Given the description of an element on the screen output the (x, y) to click on. 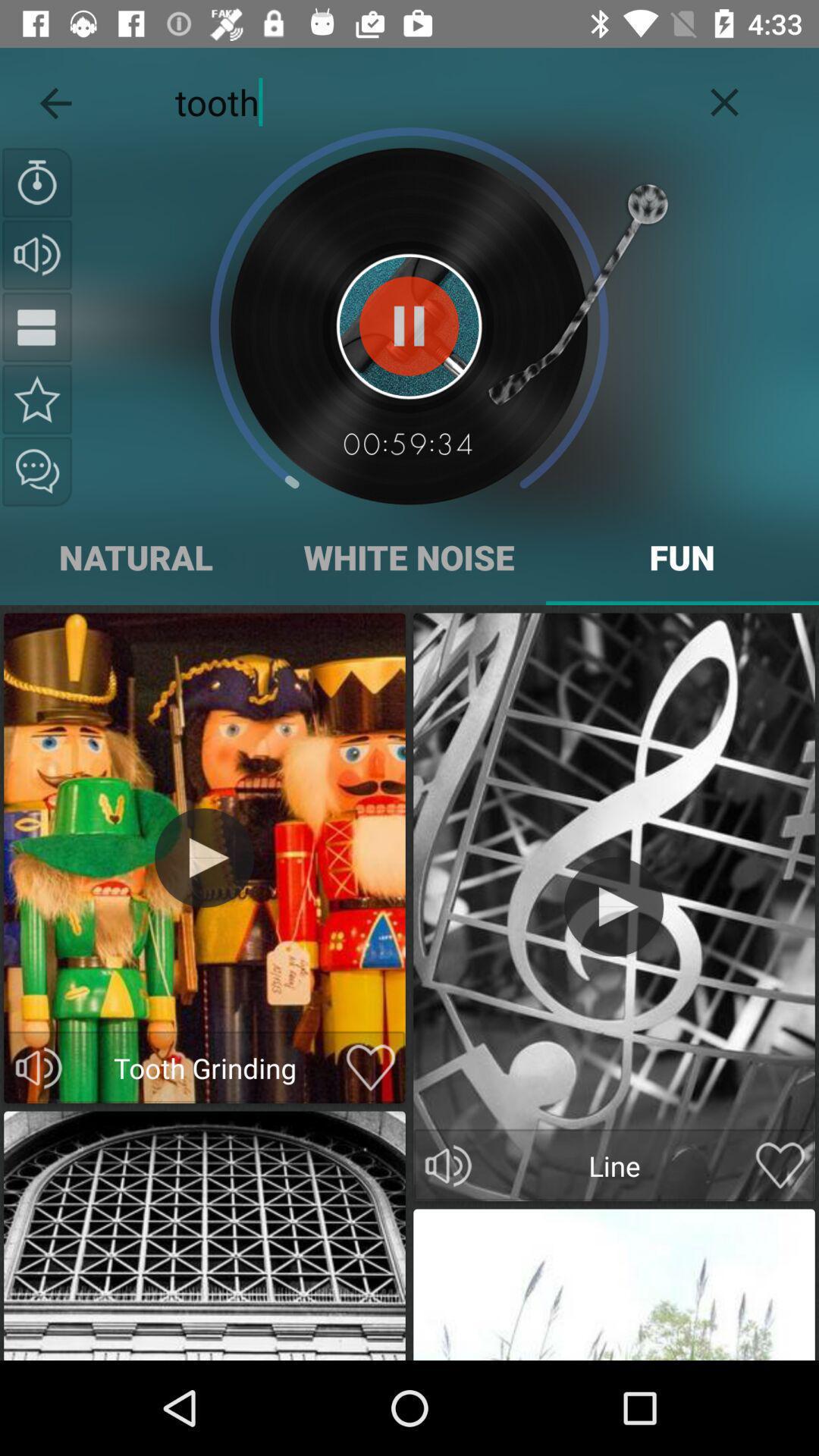
pause playing option (408, 325)
